Given the description of an element on the screen output the (x, y) to click on. 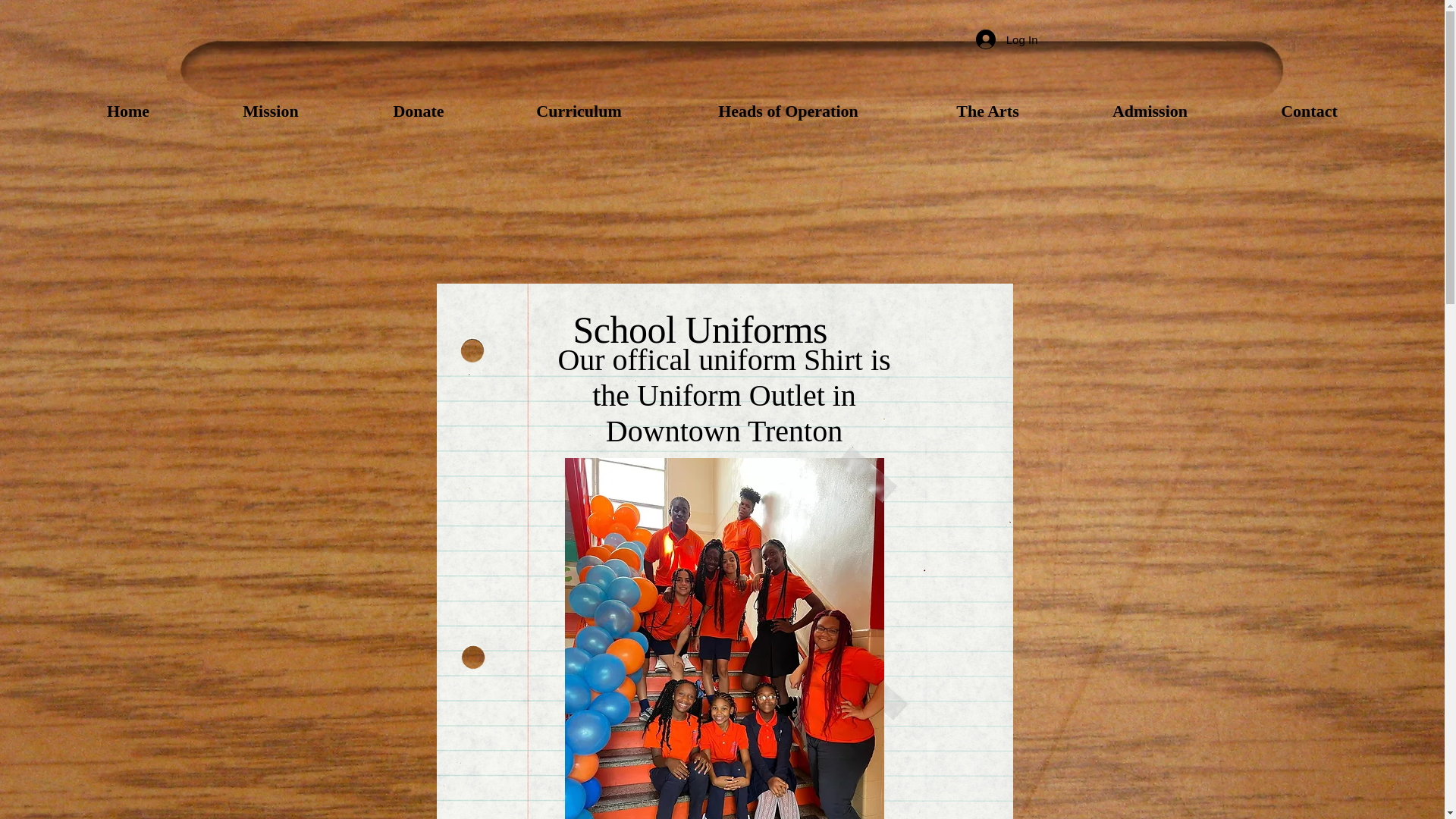
The Arts (987, 110)
Mission (270, 110)
Heads of Operation (788, 110)
Donate (419, 110)
Home (128, 110)
Log In (1006, 39)
Contact (1309, 110)
Curriculum (579, 110)
Admission (1149, 110)
